Given the description of an element on the screen output the (x, y) to click on. 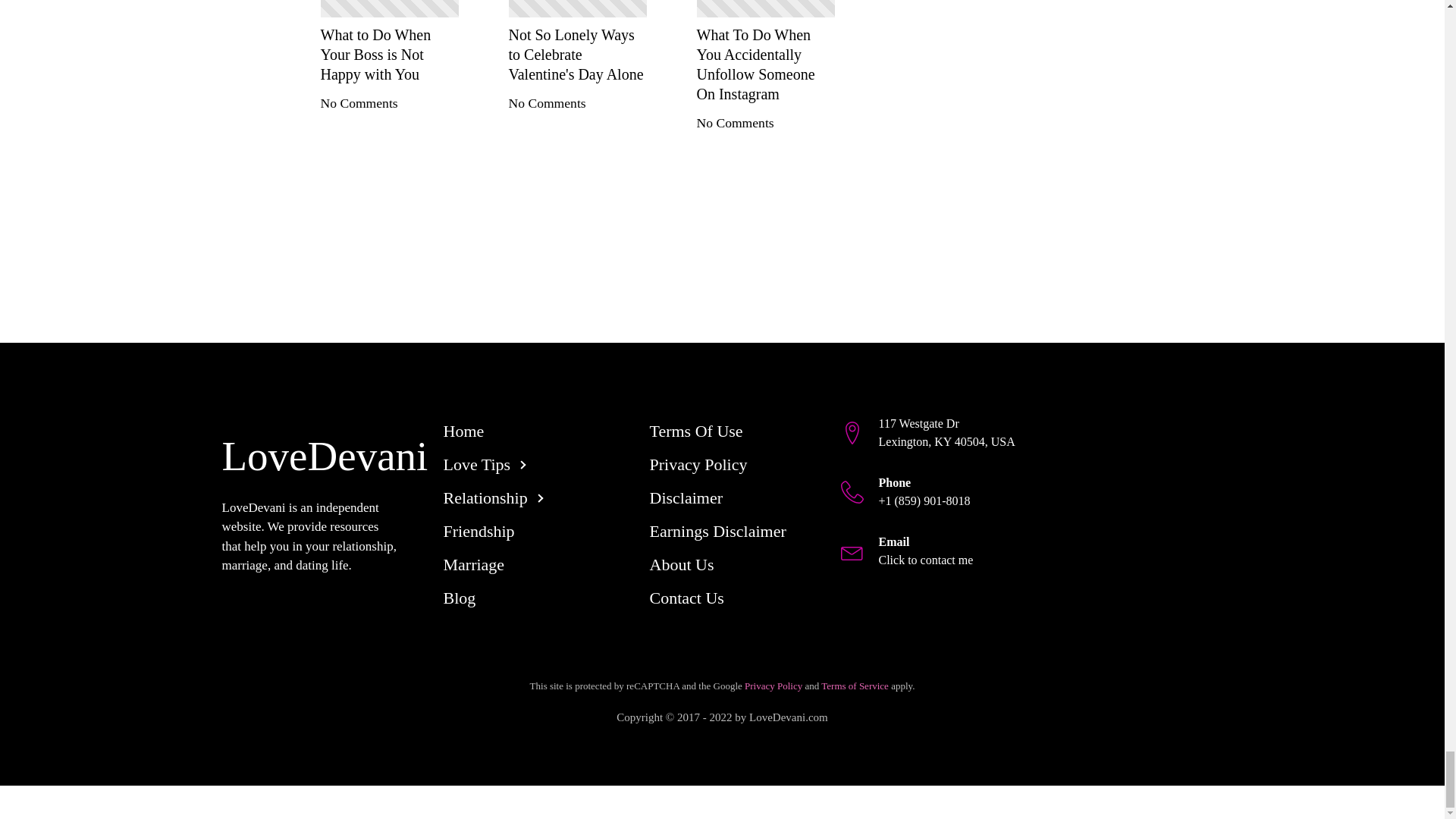
Not So Lonely Ways to Celebrate Valentine's Day Alone (577, 54)
No Comments (734, 122)
No Comments (358, 102)
What to Do When Your Boss is Not Happy with You (389, 54)
No Comments (546, 102)
